Given the description of an element on the screen output the (x, y) to click on. 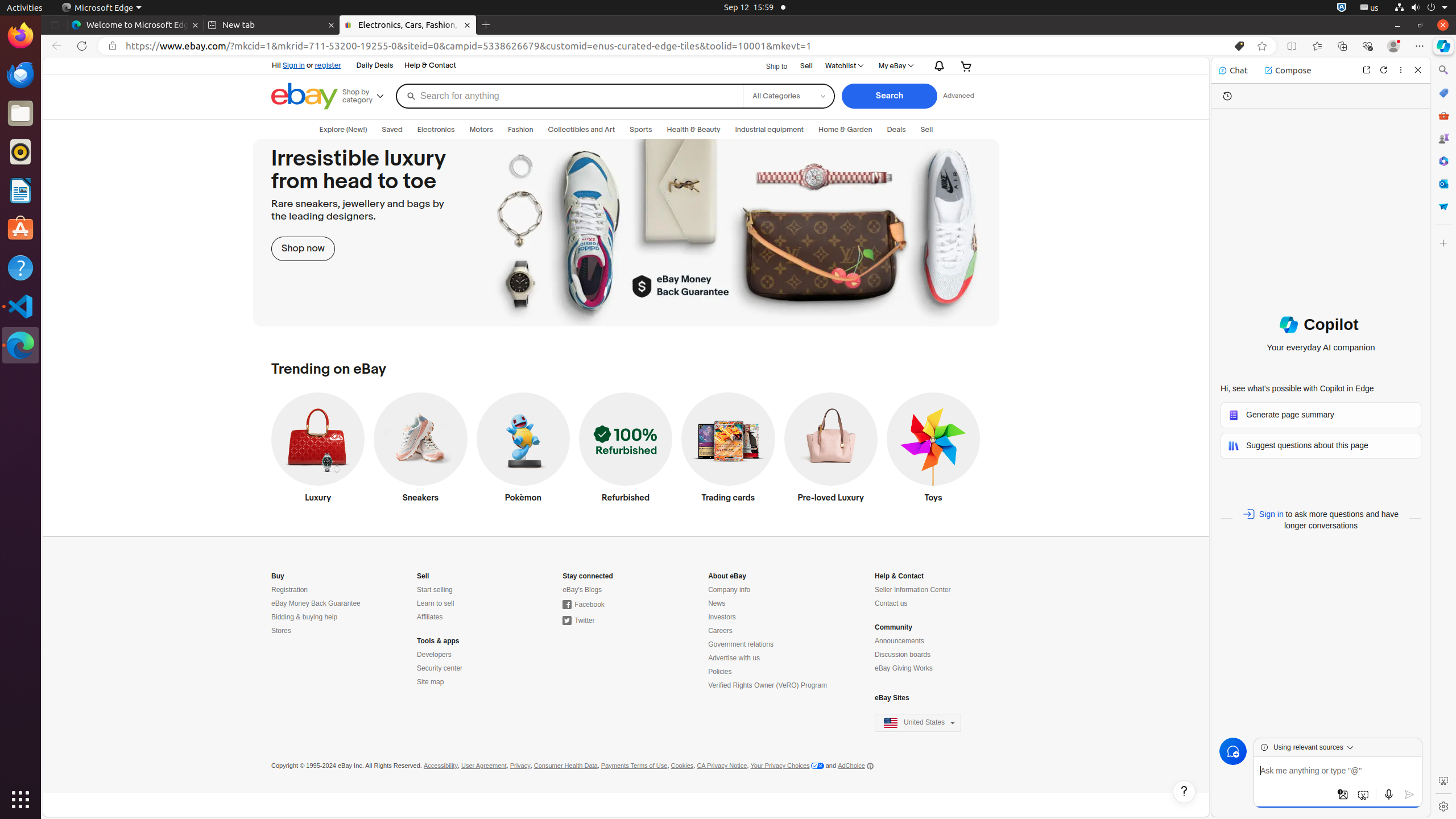
Drop Element type: push-button (1443, 206)
Show Applications Element type: toggle-button (20, 799)
:1.21/StatusNotifierItem Element type: menu (1369, 7)
Home & Garden Element type: link (845, 129)
Motors Element type: link (481, 129)
